Given the description of an element on the screen output the (x, y) to click on. 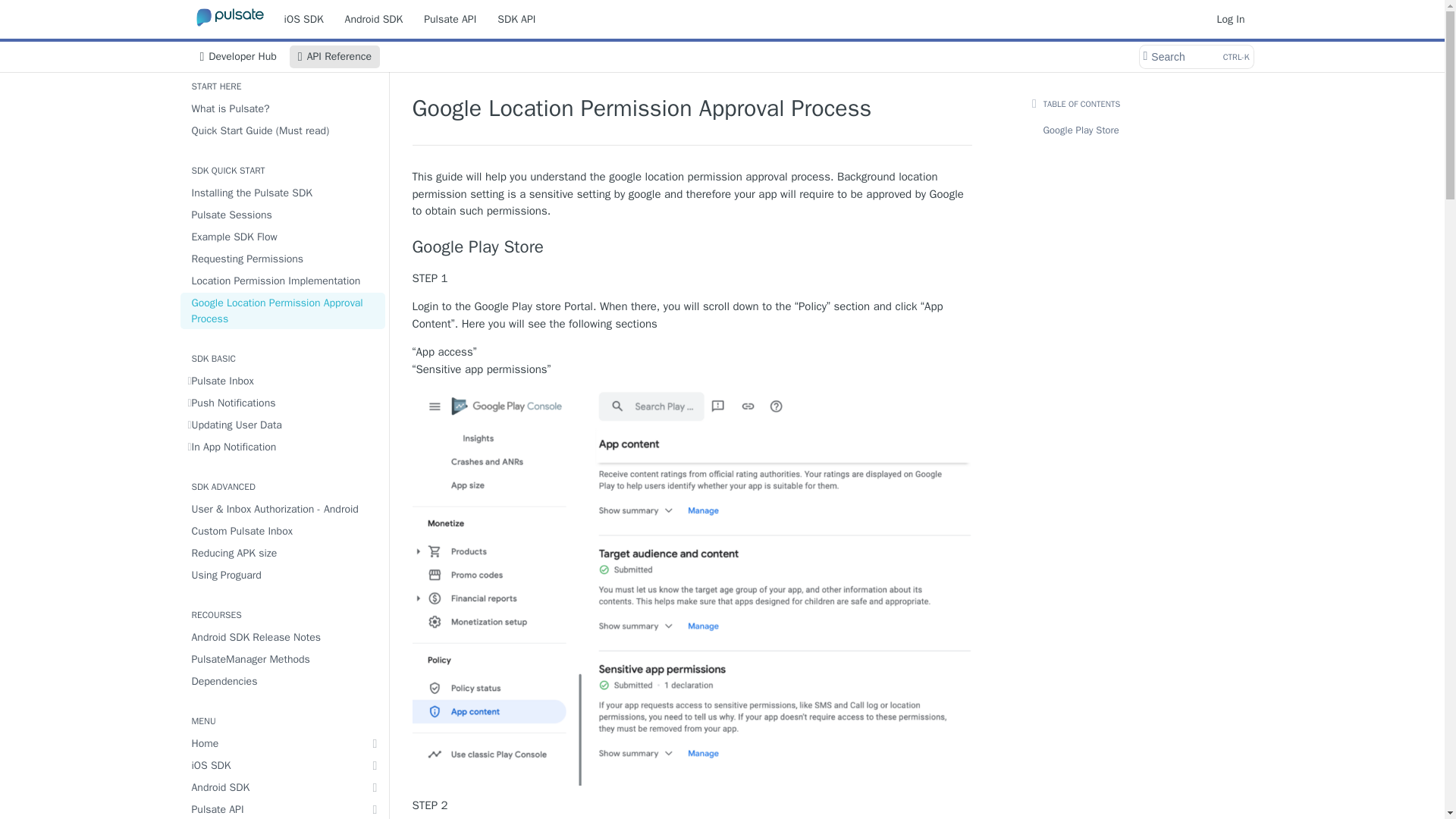
Pulsate Inbox (282, 381)
Android SDK (374, 18)
API Reference (334, 56)
Pulsate API (449, 18)
SDK API (516, 18)
Requesting Permissions (282, 258)
Installing the Pulsate SDK (282, 192)
Pulsate Sessions (282, 214)
What is Pulsate? (282, 108)
iOS SDK (303, 18)
Example SDK Flow (282, 236)
Developer Hub (1195, 56)
Location Permission Implementation (236, 56)
